Given the description of an element on the screen output the (x, y) to click on. 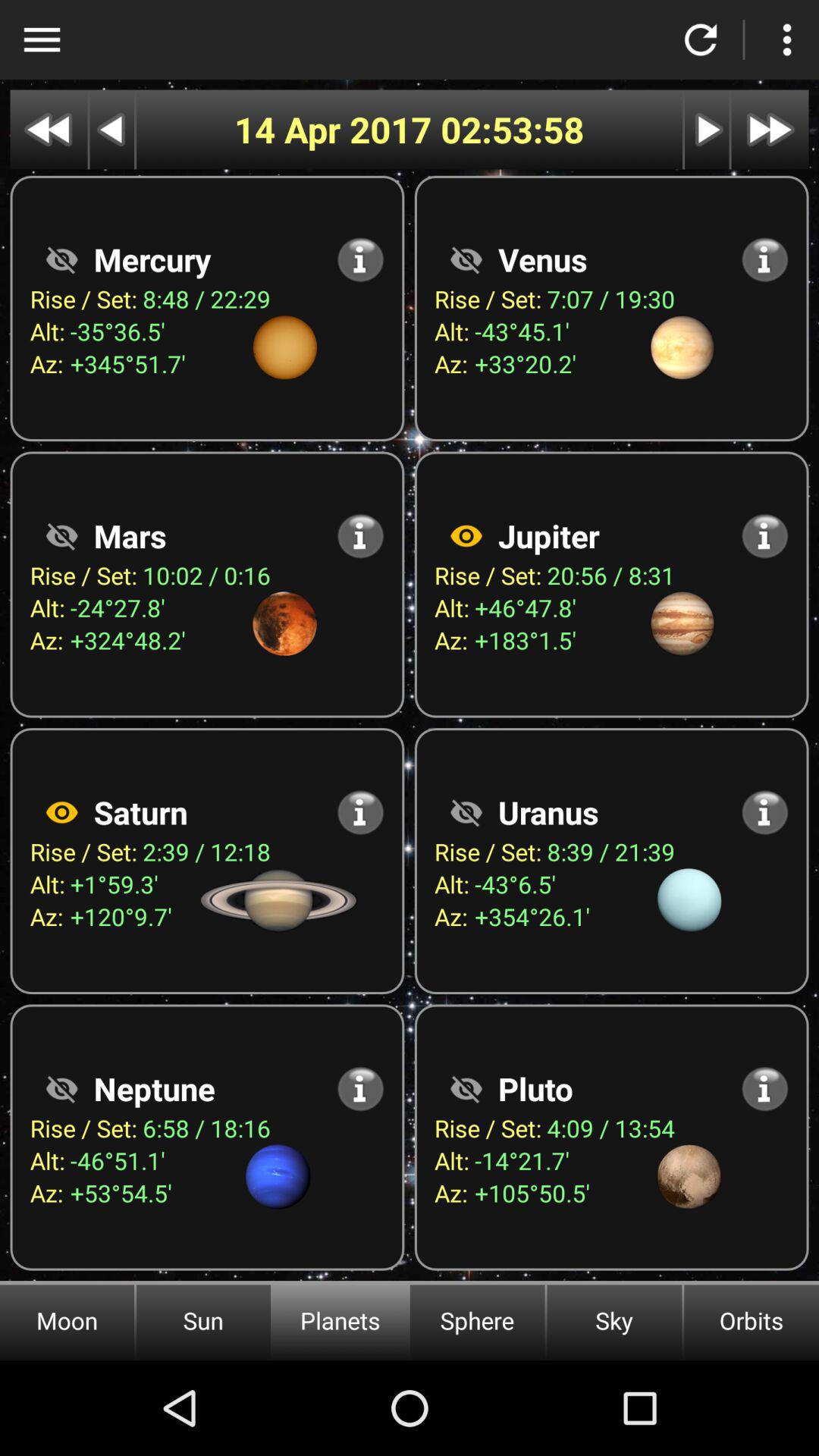
more information (764, 812)
